Given the description of an element on the screen output the (x, y) to click on. 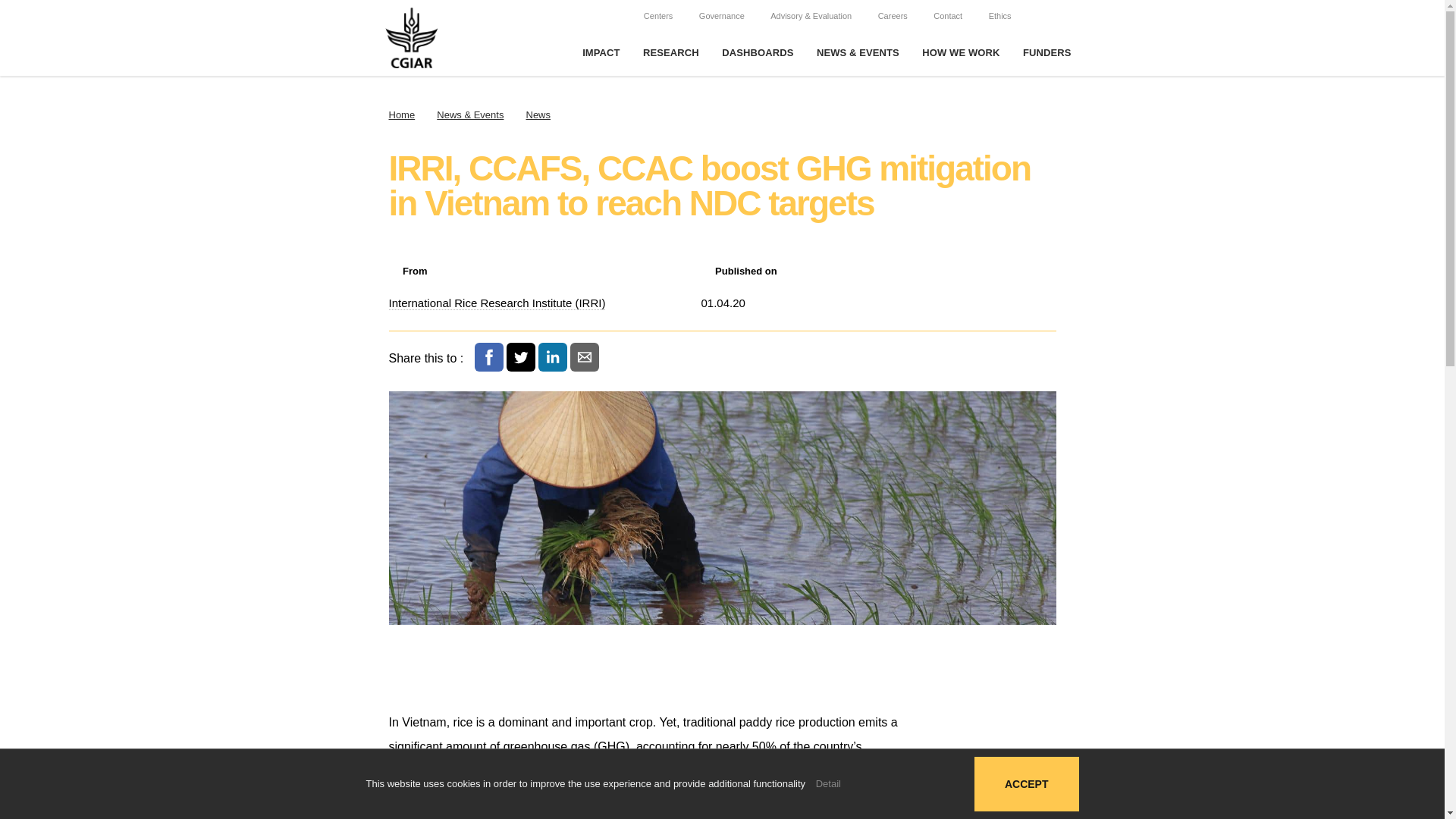
RESEARCH (670, 53)
